Given the description of an element on the screen output the (x, y) to click on. 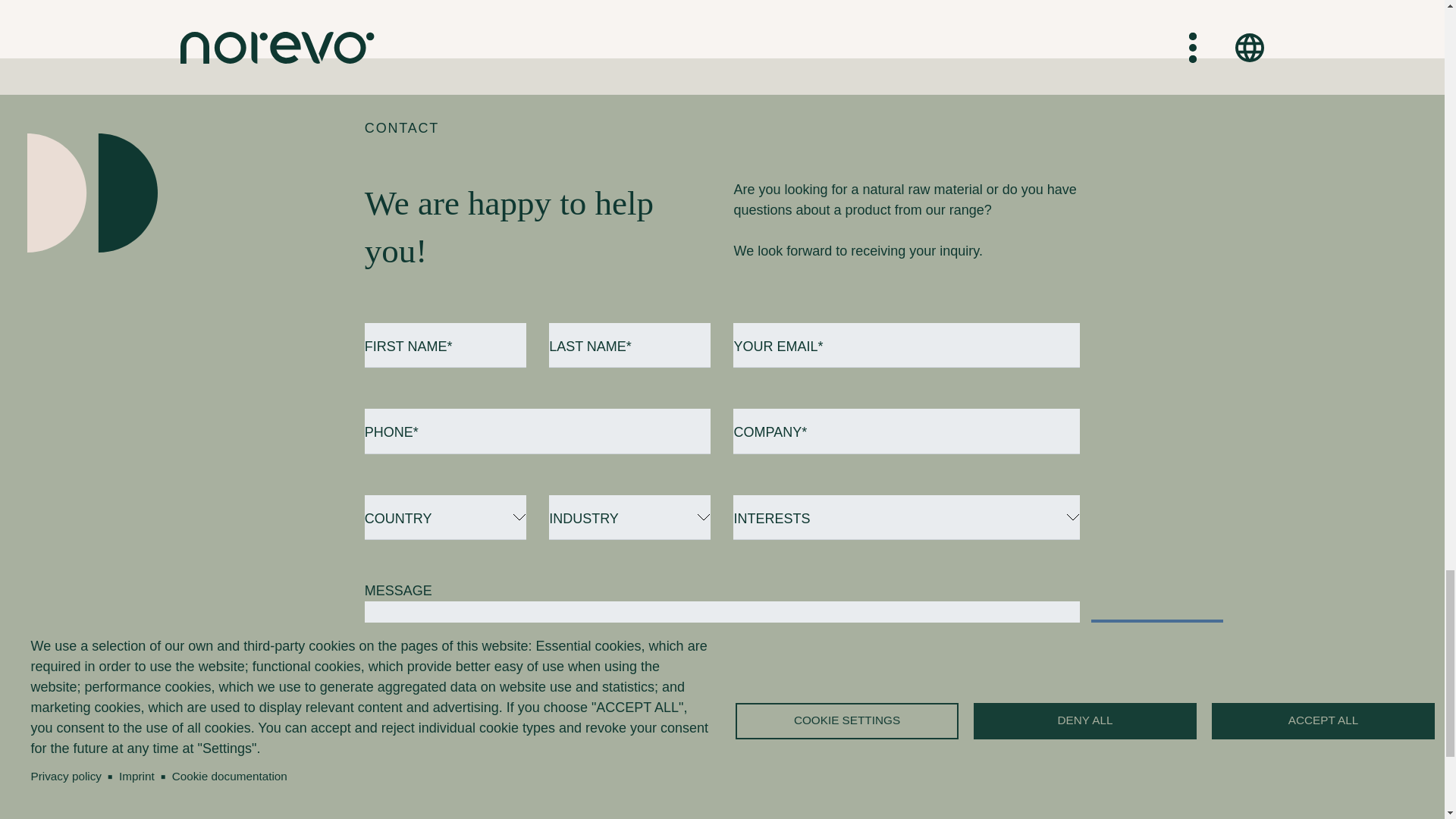
Send message (1156, 639)
privacy policy (620, 717)
Send message (1156, 639)
